Given the description of an element on the screen output the (x, y) to click on. 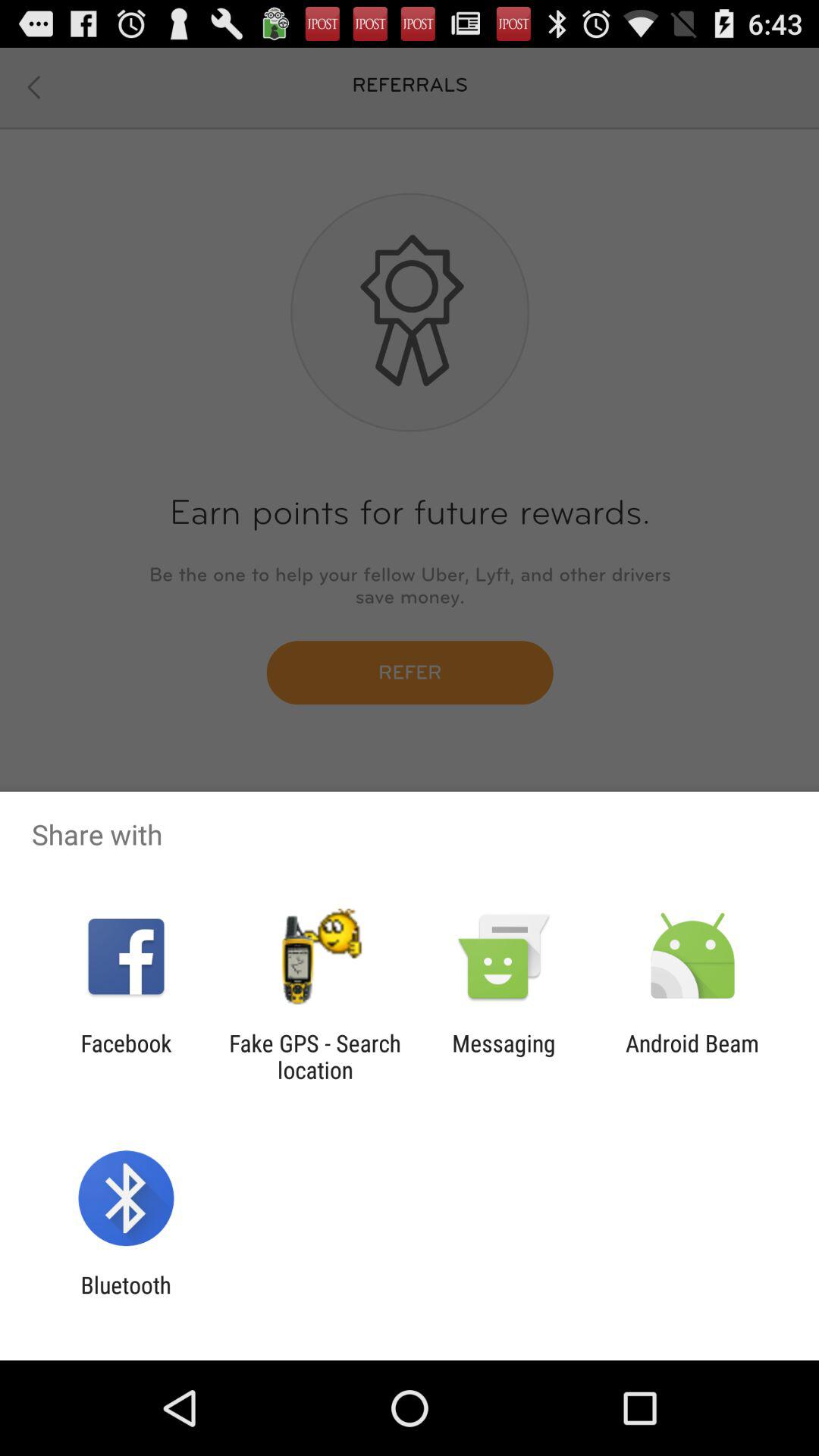
click the android beam item (692, 1056)
